Given the description of an element on the screen output the (x, y) to click on. 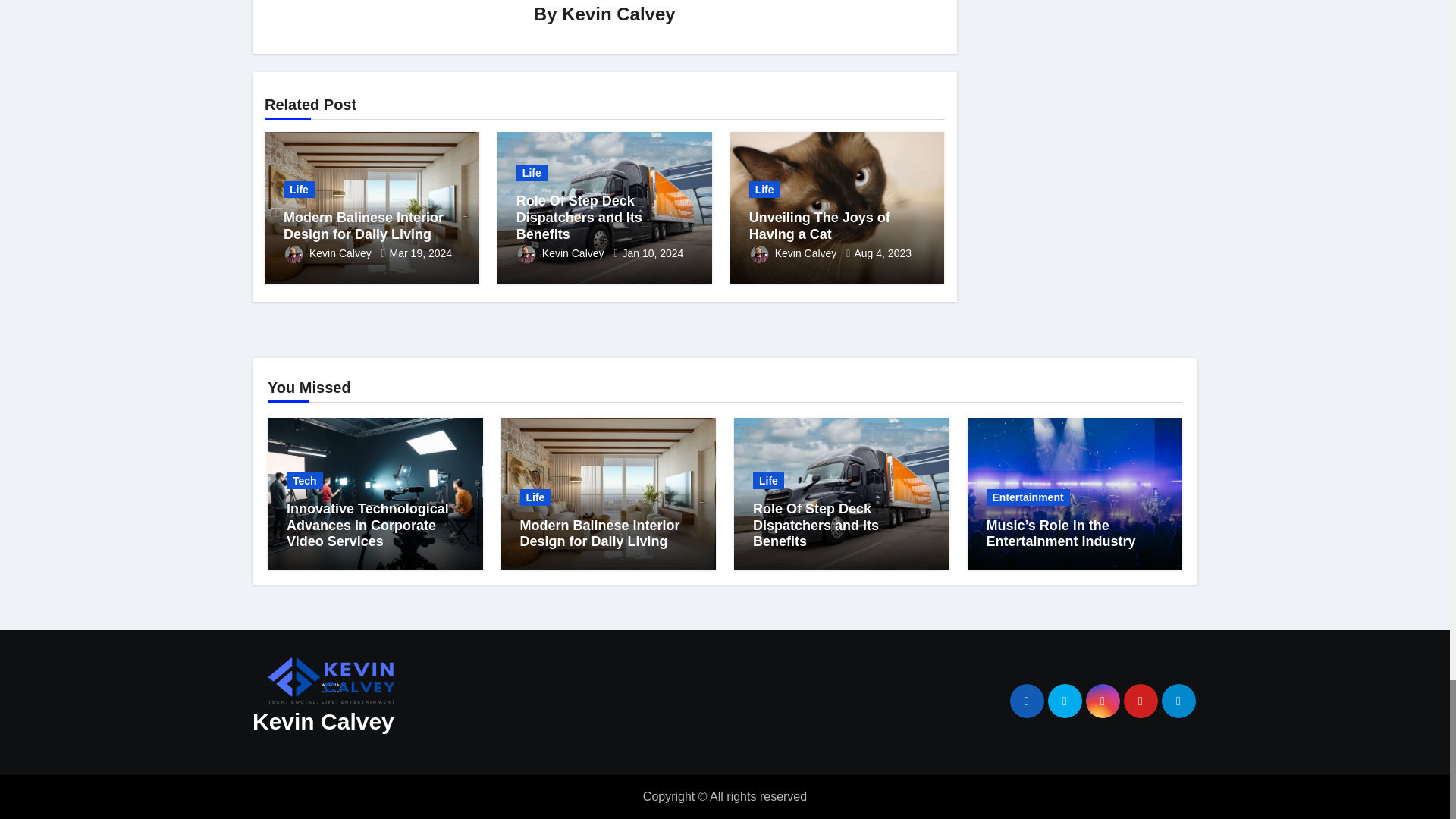
Permalink to: Role Of Step Deck Dispatchers and Its Benefits (579, 216)
Permalink to: Unveiling The Joys of Having a Cat (819, 225)
